Given the description of an element on the screen output the (x, y) to click on. 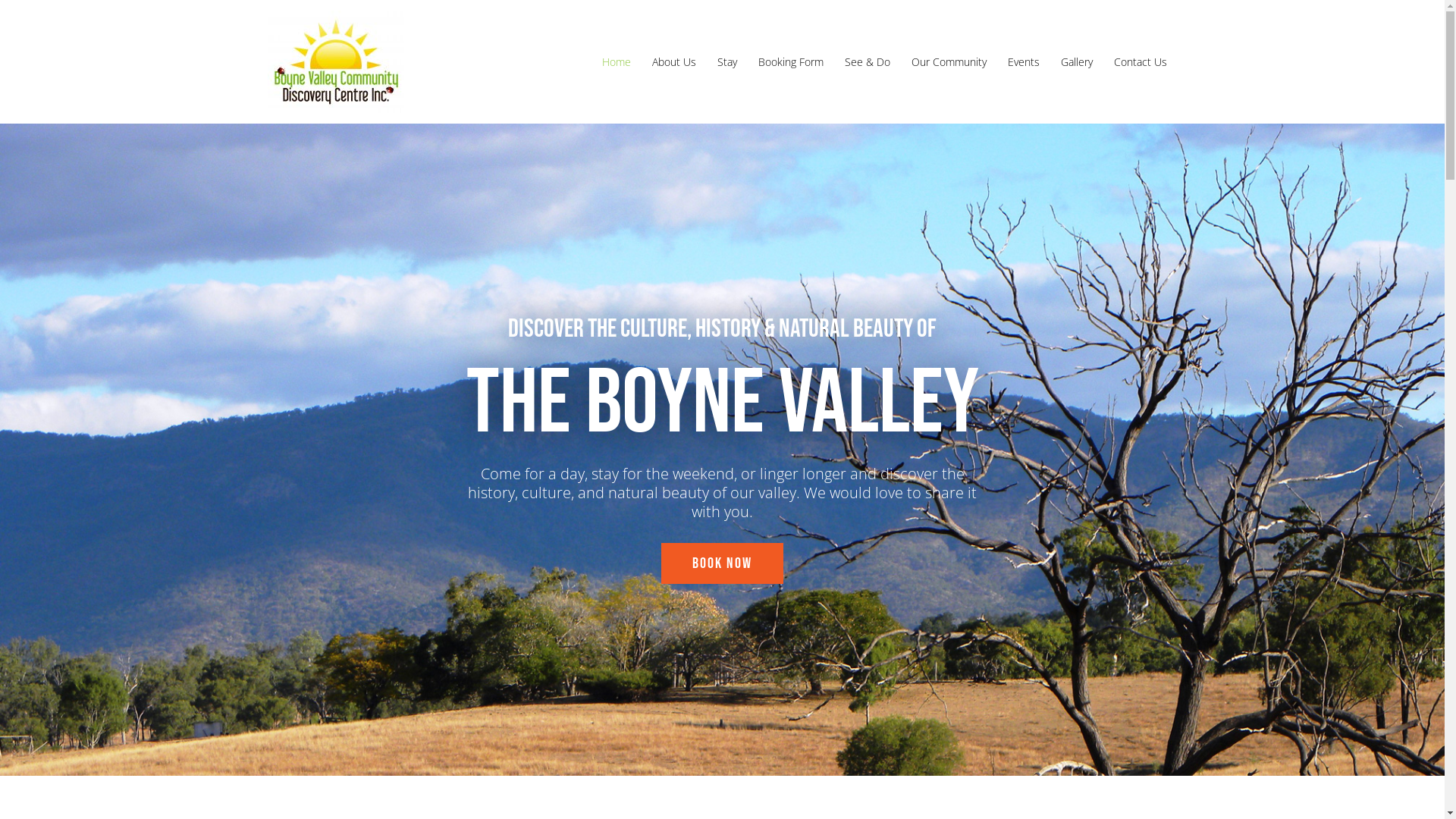
Gallery Element type: text (1075, 61)
Events Element type: text (1022, 61)
Booking Form Element type: text (790, 61)
Stay Element type: text (726, 61)
About Us Element type: text (673, 61)
See & Do Element type: text (867, 61)
Contact Us Element type: text (1139, 61)
Home Element type: text (616, 61)
Our Community Element type: text (948, 61)
BOOK NOW Element type: text (722, 562)
